Given the description of an element on the screen output the (x, y) to click on. 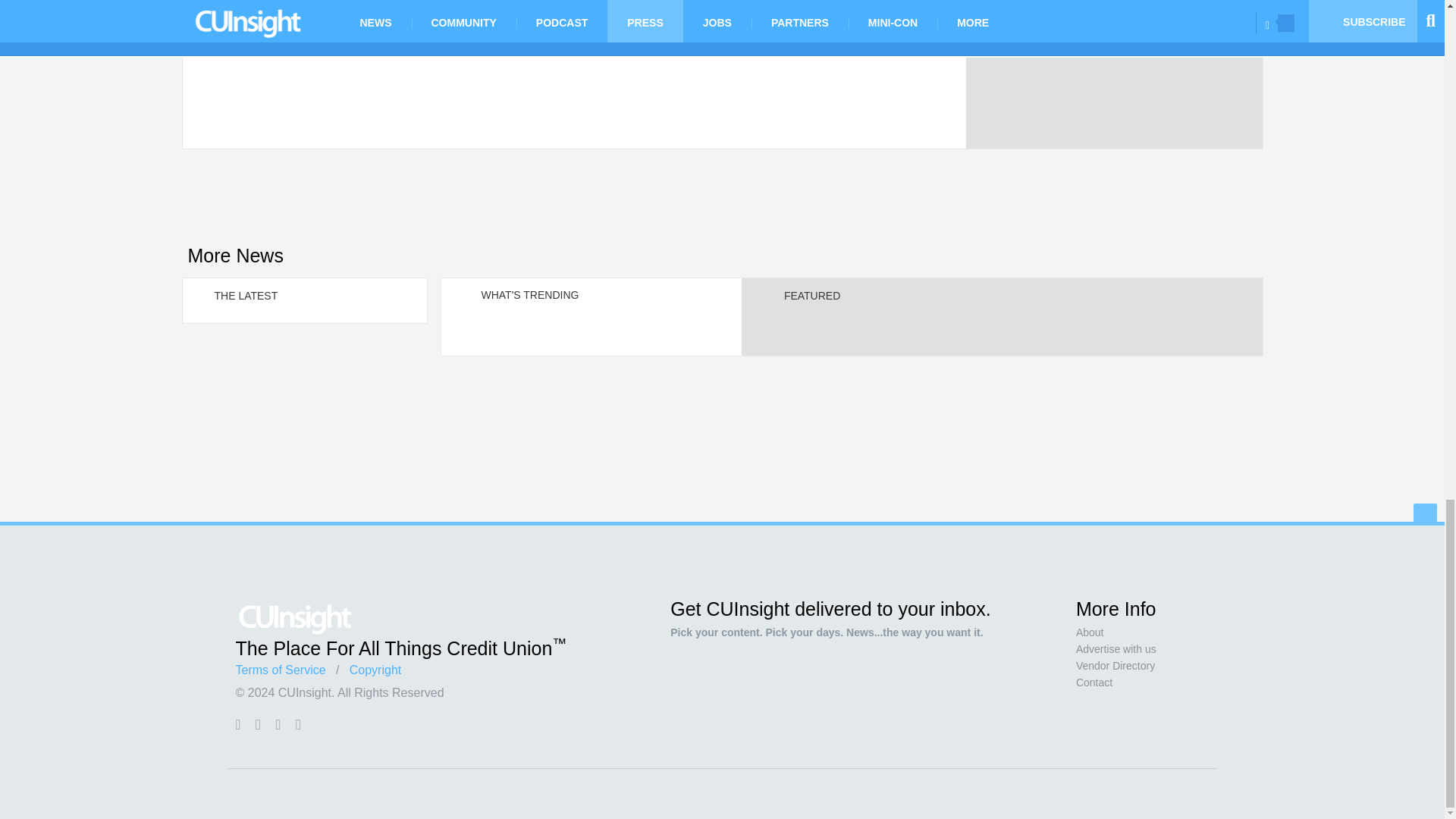
instagram (298, 724)
linkedin (278, 724)
Facebook (237, 724)
twitter (258, 724)
